Given the description of an element on the screen output the (x, y) to click on. 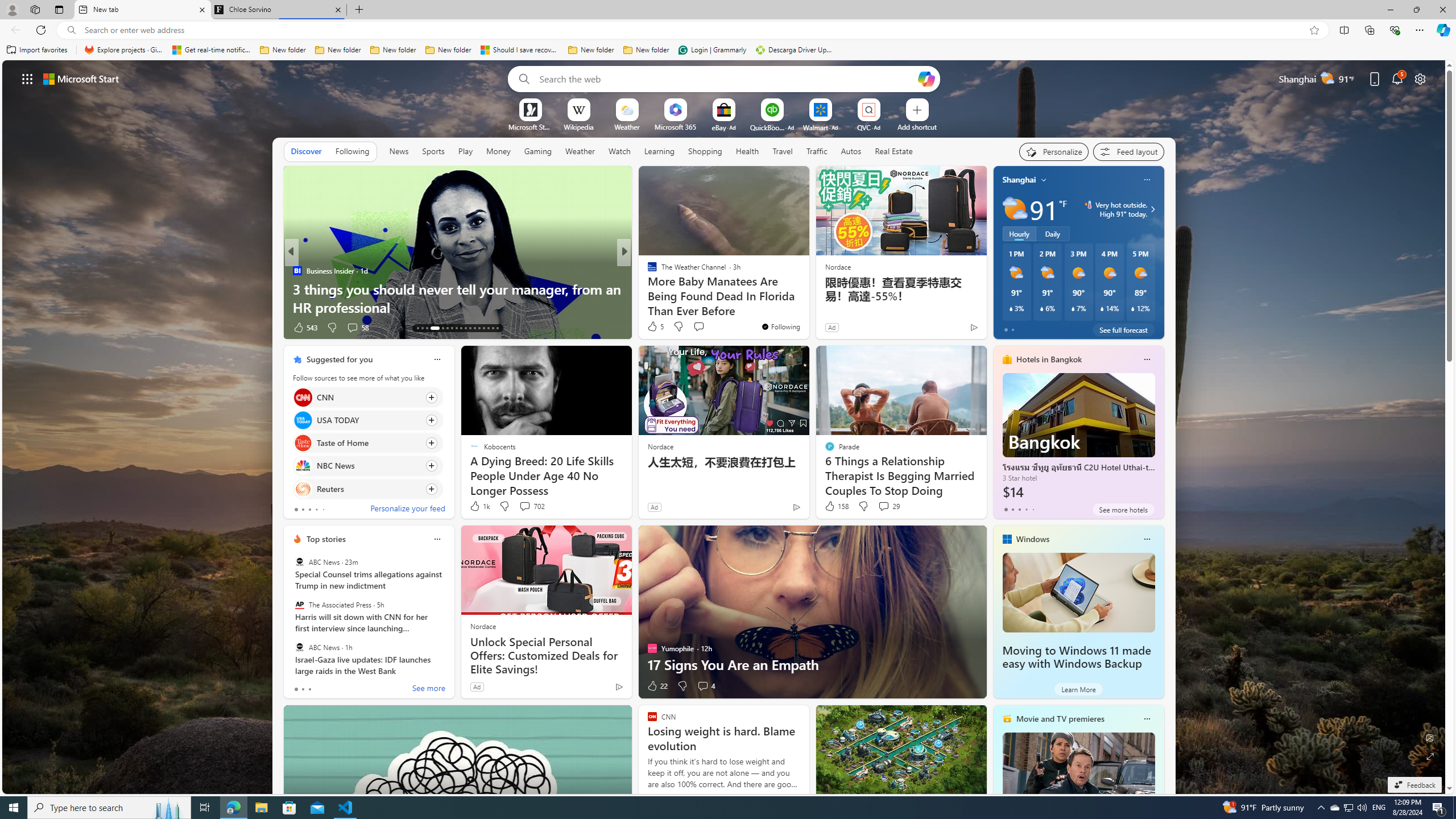
hotels-header-icon (1006, 358)
75 Like (652, 327)
NBC News (302, 466)
Descarga Driver Updater (794, 49)
AutomationID: tab-23 (470, 328)
Search icon (70, 29)
Weather (580, 151)
Shopping (705, 151)
Nordace.com (663, 288)
View comments 19 Comment (703, 327)
